Given the description of an element on the screen output the (x, y) to click on. 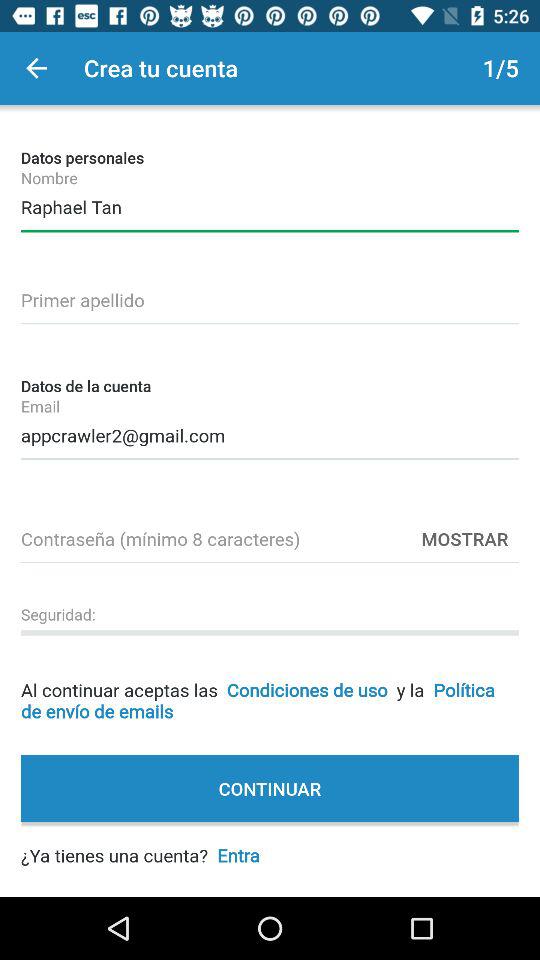
tap item below continuar (140, 844)
